Given the description of an element on the screen output the (x, y) to click on. 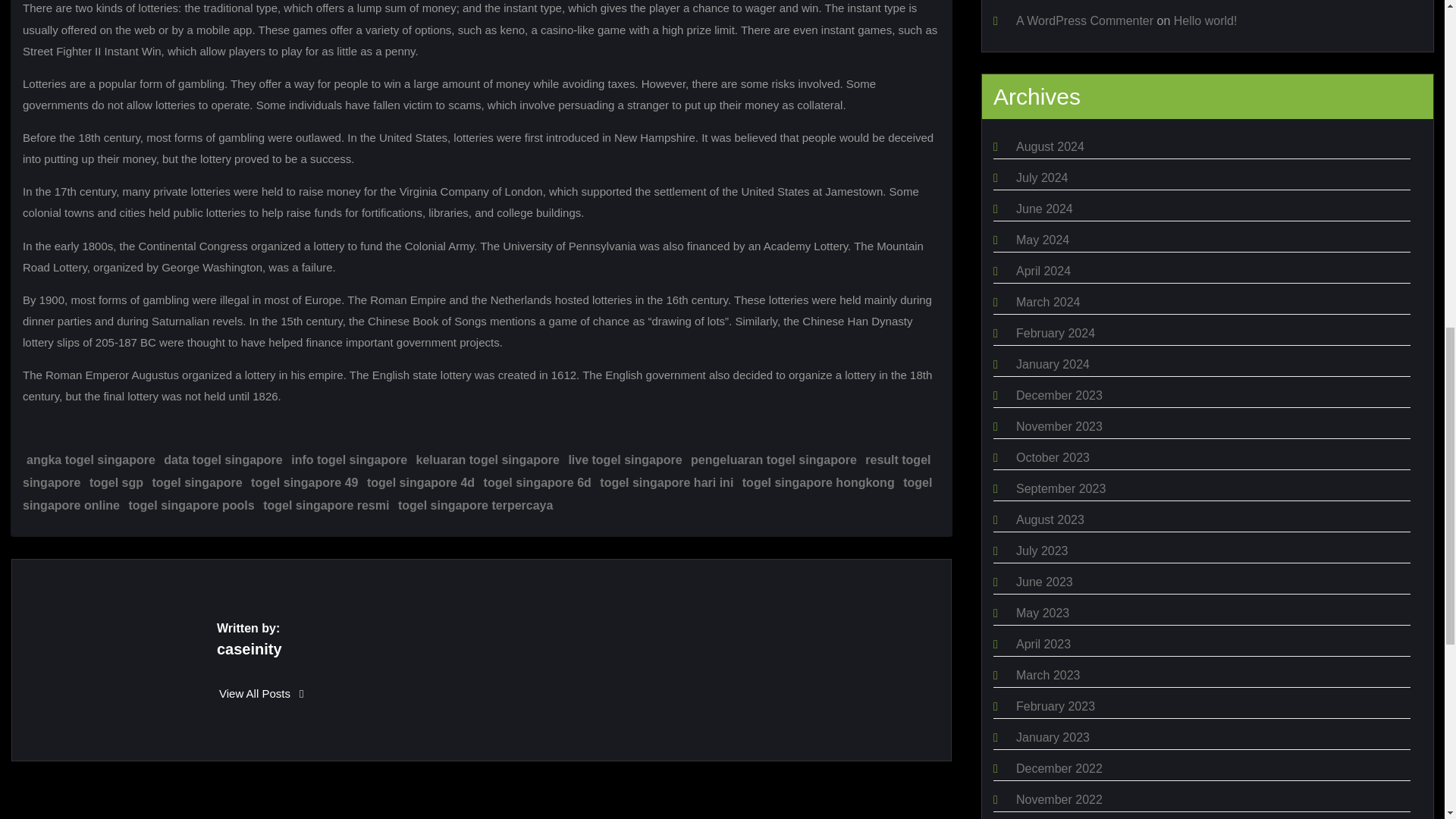
togel singapore pools (191, 504)
keluaran togel singapore (487, 459)
togel singapore online (477, 493)
togel singapore 49 (303, 481)
angka togel singapore (90, 459)
View All Posts (261, 693)
July 2024 (1042, 177)
togel singapore (196, 481)
live togel singapore (624, 459)
data togel singapore (222, 459)
